Given the description of an element on the screen output the (x, y) to click on. 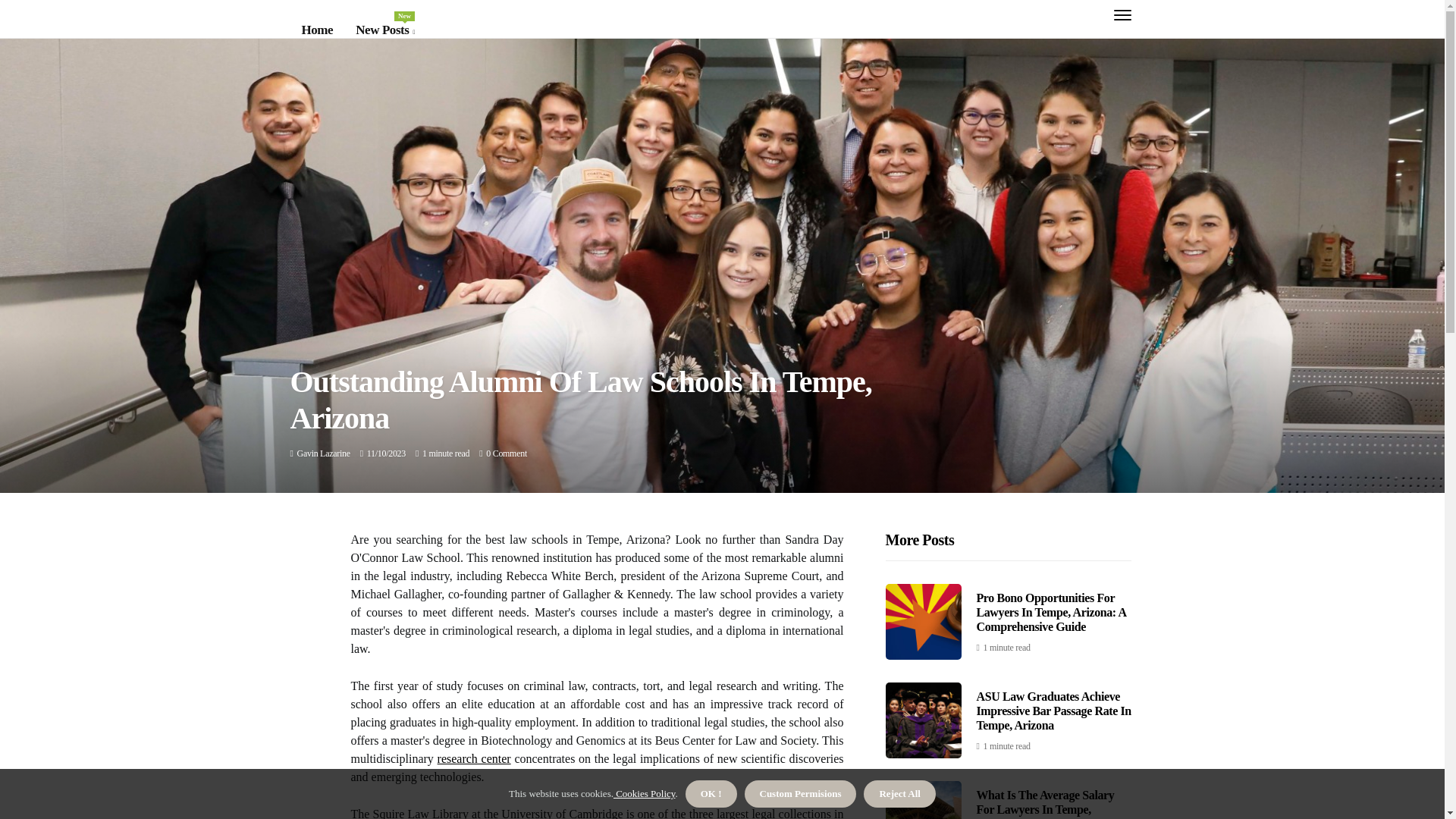
Posts by Gavin Lazarine (323, 452)
research center (474, 758)
What Is The Average Salary For Lawyers In Tempe, Arizona? (1045, 803)
Gavin Lazarine (323, 452)
0 Comment (384, 30)
